Given the description of an element on the screen output the (x, y) to click on. 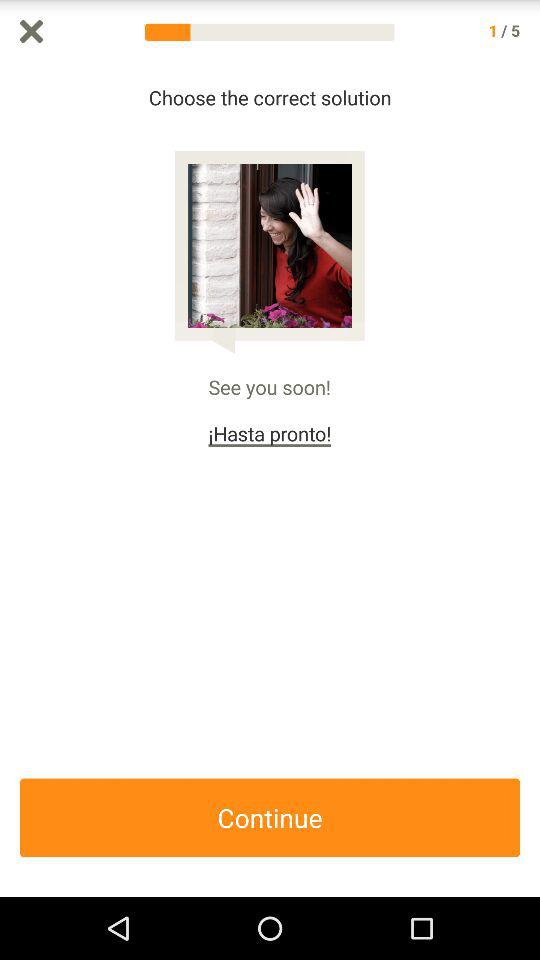
launch icon on the right (530, 480)
